Given the description of an element on the screen output the (x, y) to click on. 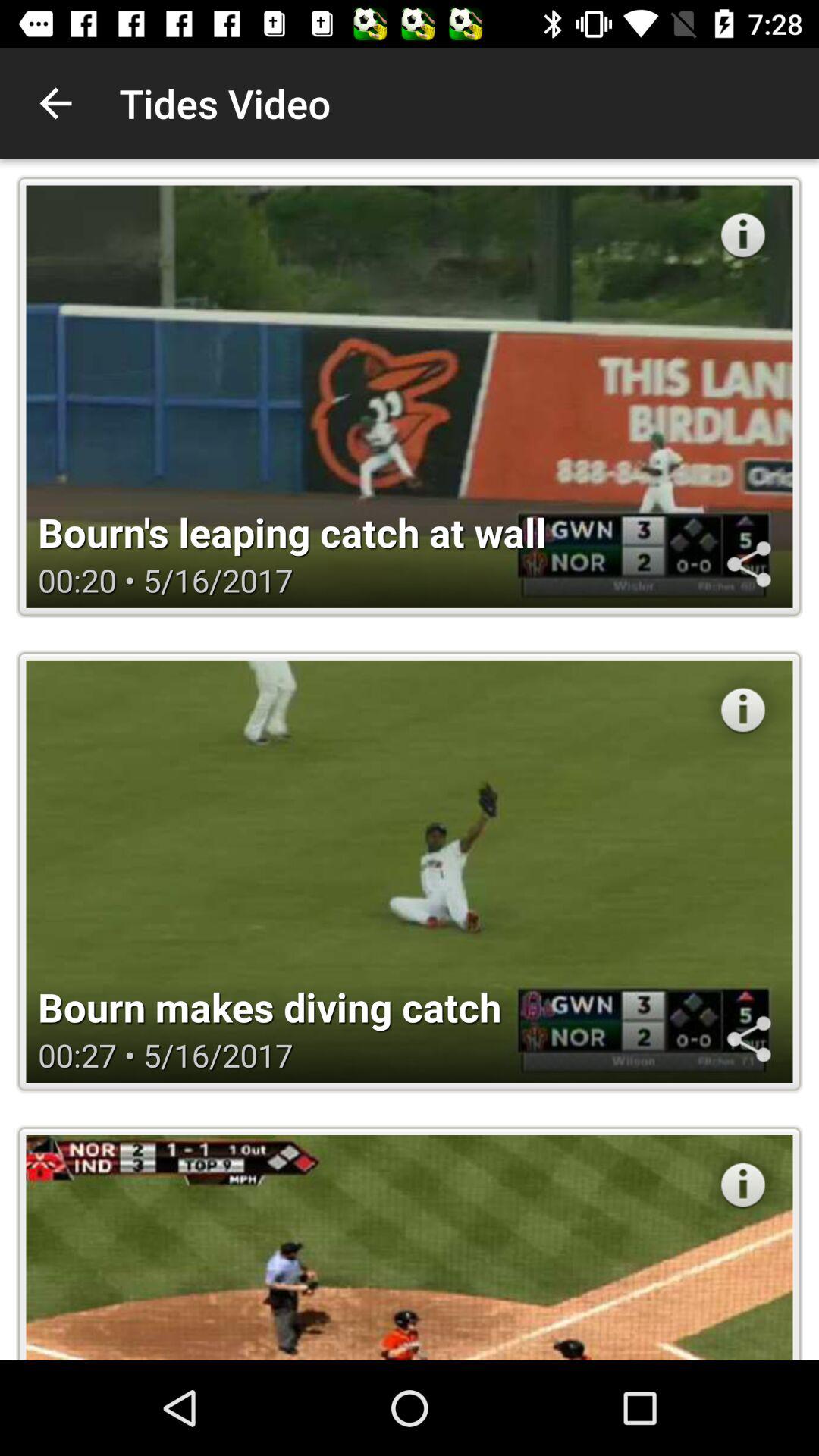
show links (748, 564)
